Given the description of an element on the screen output the (x, y) to click on. 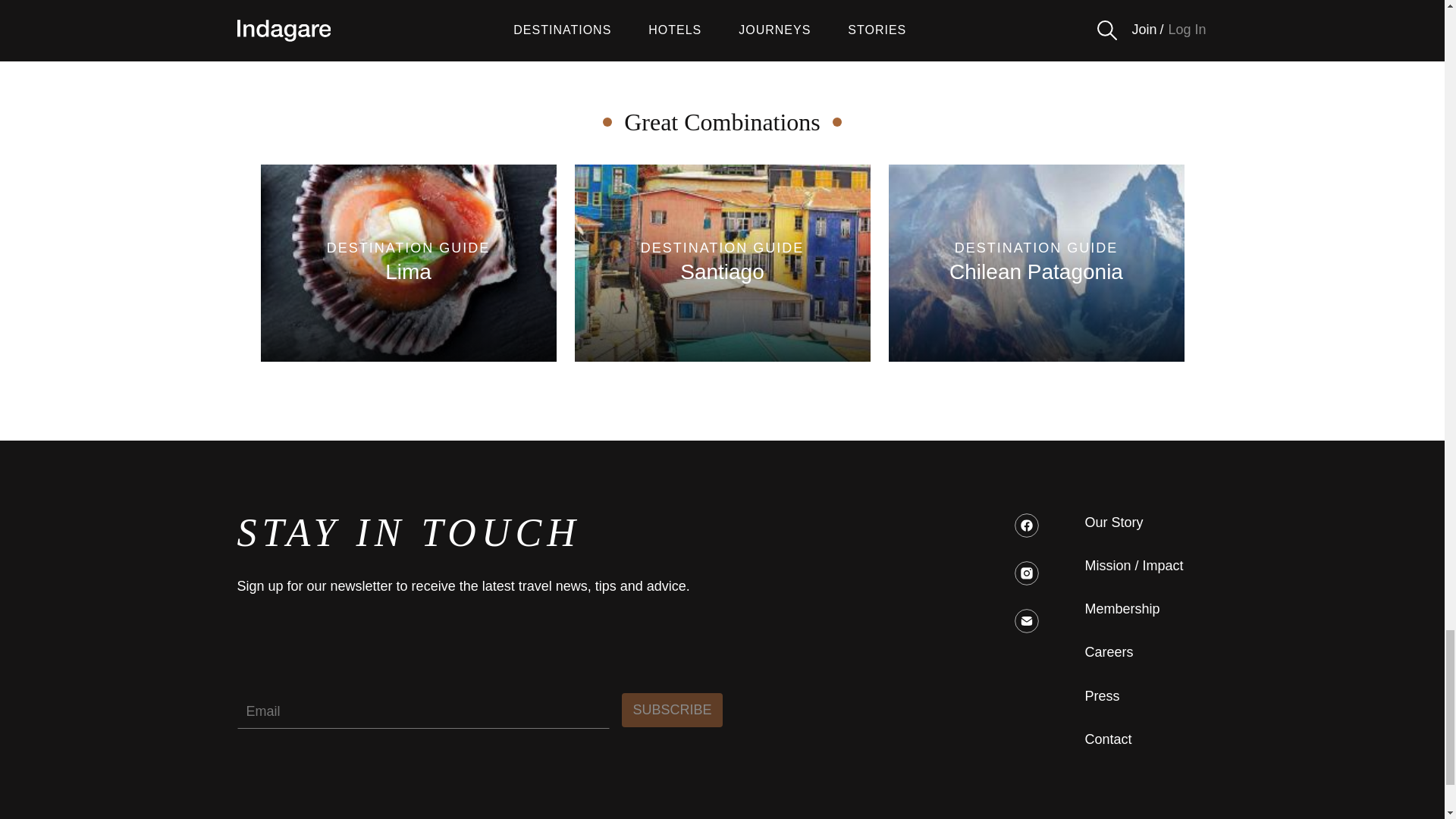
SUBSCRIBE (408, 262)
The Heads of Easter Island (722, 262)
Our Story (671, 709)
Postcard from Easter Island (1138, 9)
Membership (1036, 262)
